Given the description of an element on the screen output the (x, y) to click on. 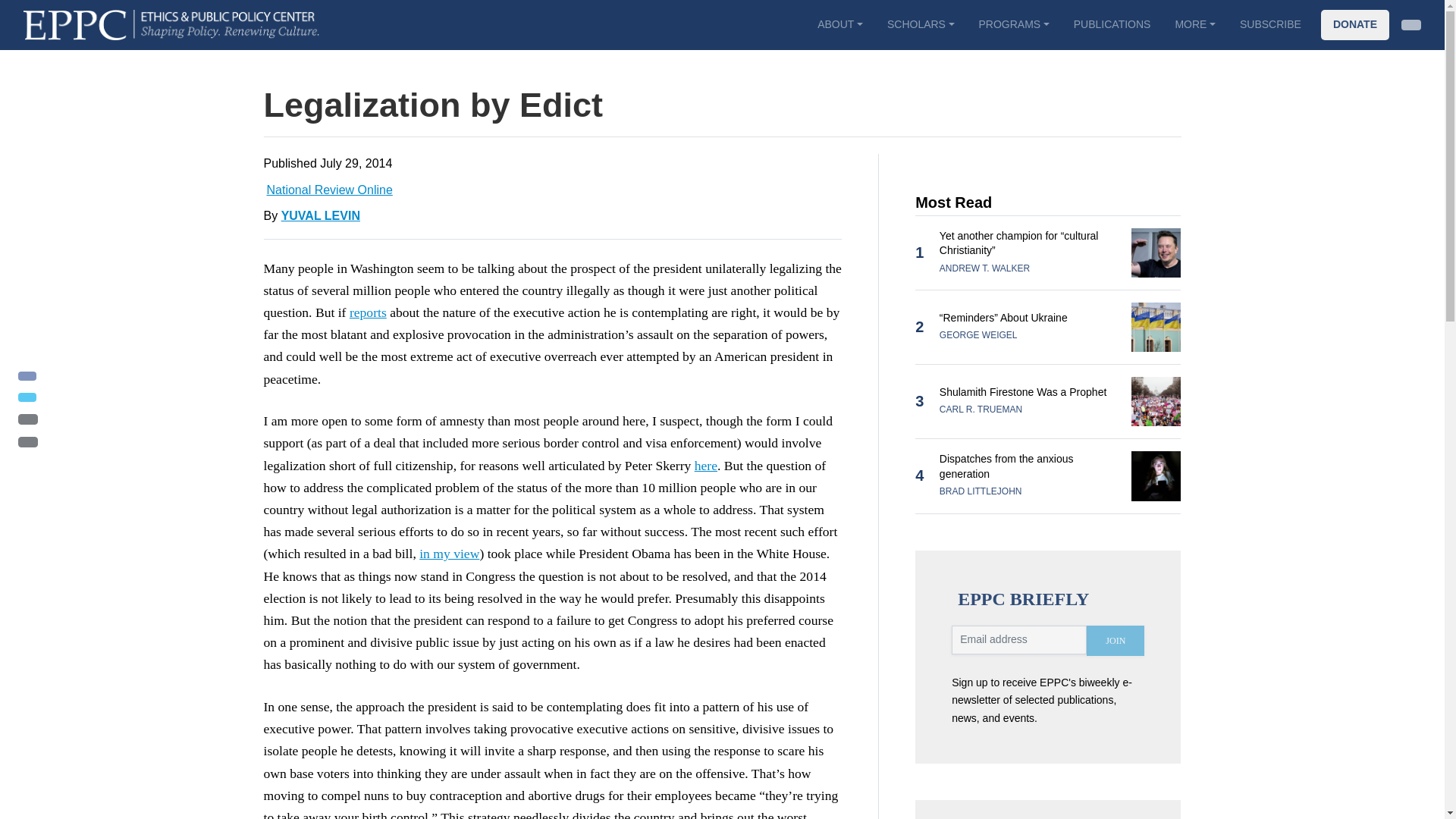
SCHOLARS (920, 24)
ABOUT (840, 24)
JOIN (1115, 640)
